Given the description of an element on the screen output the (x, y) to click on. 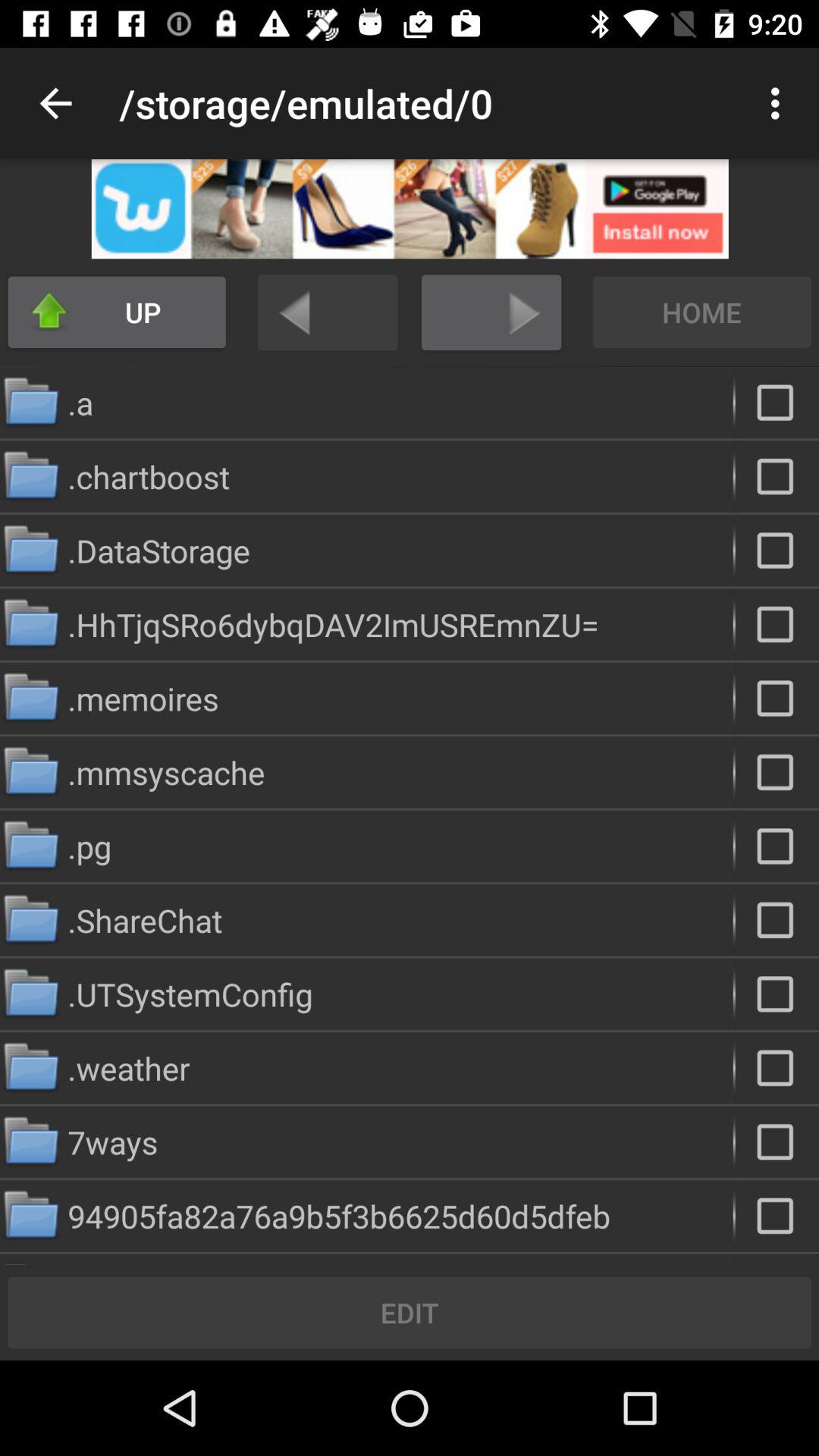
view advertisement (409, 208)
